Given the description of an element on the screen output the (x, y) to click on. 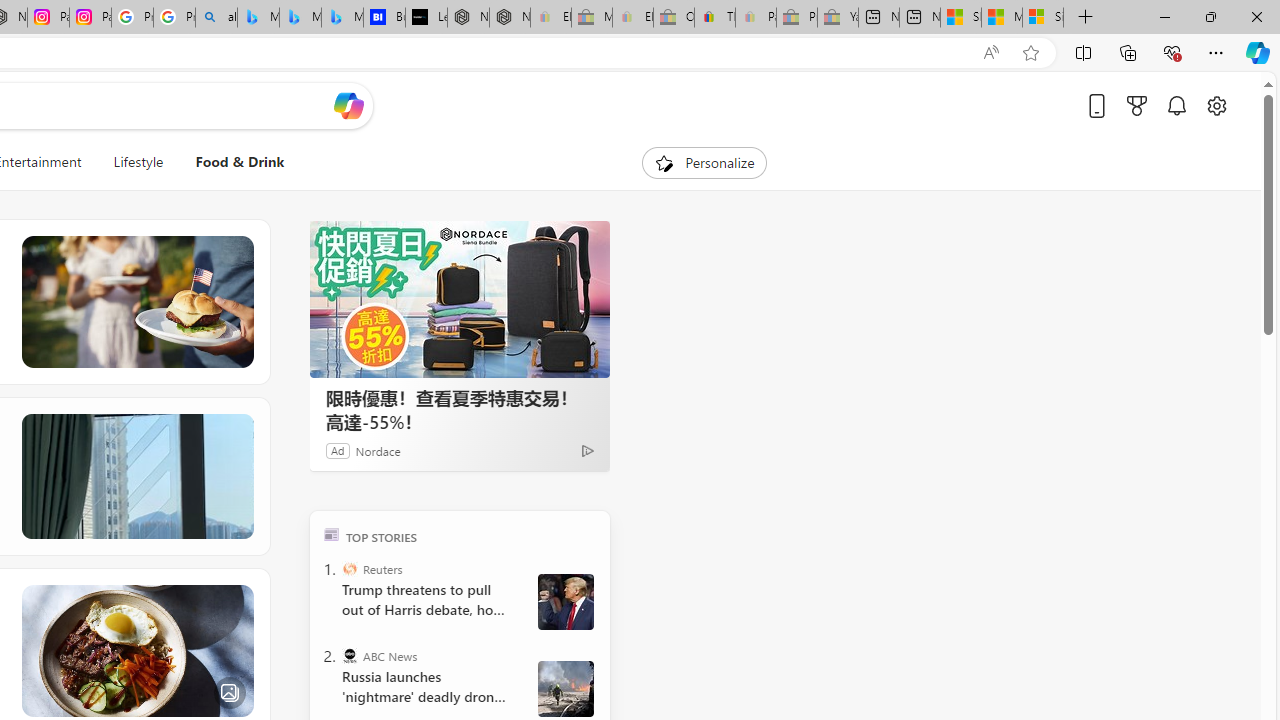
Threats and offensive language policy | eBay (714, 17)
Notifications (1176, 105)
Open settings (1216, 105)
Shanghai, China hourly forecast | Microsoft Weather (960, 17)
TOP (331, 534)
